Given the description of an element on the screen output the (x, y) to click on. 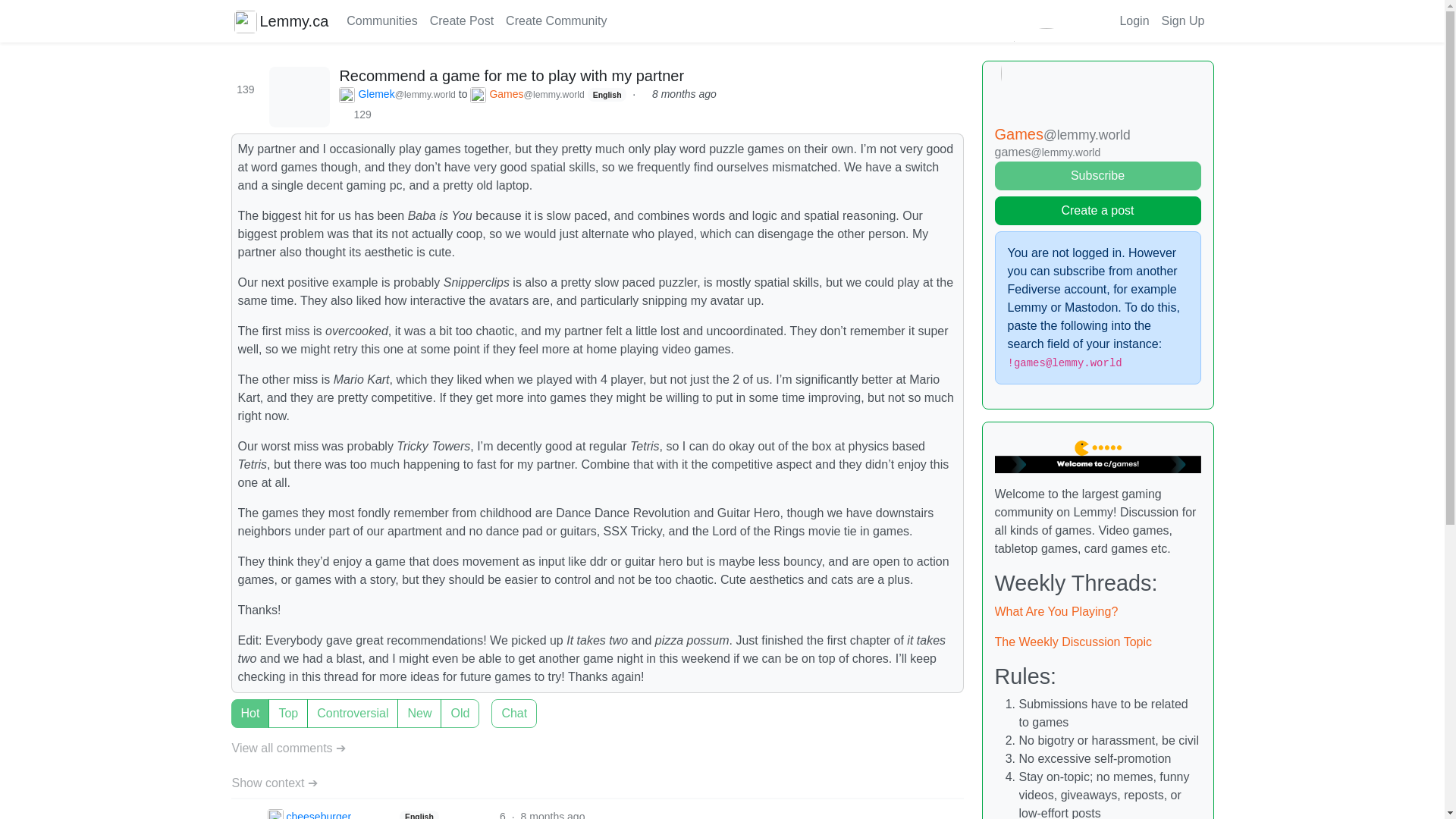
Old (235, 704)
New (235, 704)
Create Post (461, 20)
Recommend a game for me to play with my partner (511, 75)
Sign Up (1183, 20)
Communities (381, 20)
Login (1133, 20)
Create Community (555, 20)
Support Lemmy (623, 20)
Lemmy.ca (280, 20)
Glemek (397, 94)
Comments (299, 96)
Top (235, 704)
Create Post (461, 20)
